Given the description of an element on the screen output the (x, y) to click on. 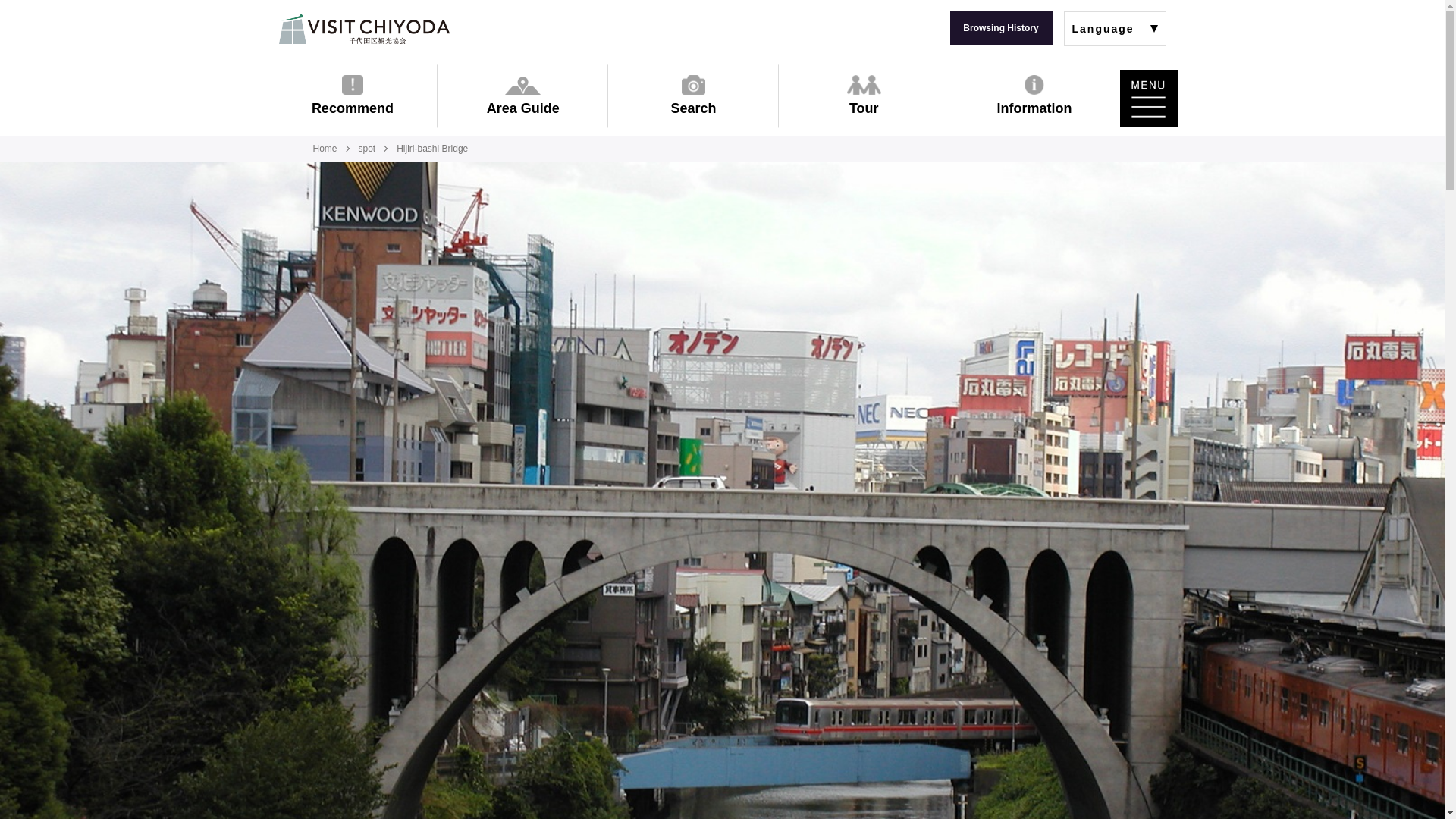
Tour (863, 95)
Area Guide (523, 95)
Information (1034, 95)
Browsing History (1000, 28)
Search (693, 95)
Recommend (352, 95)
